Given the description of an element on the screen output the (x, y) to click on. 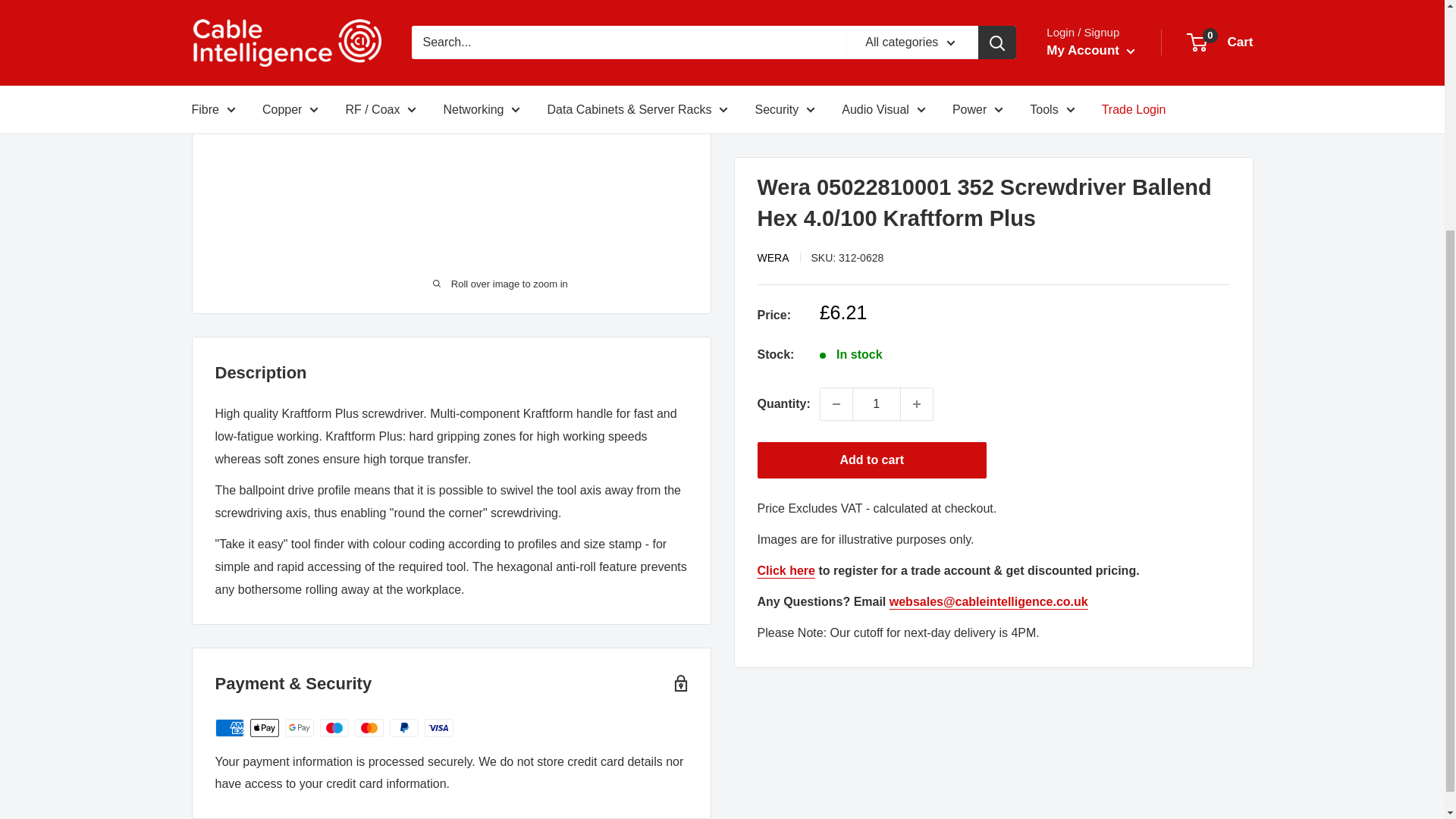
1 (876, 115)
Increase quantity by 1 (917, 115)
Decrease quantity by 1 (836, 115)
